Given the description of an element on the screen output the (x, y) to click on. 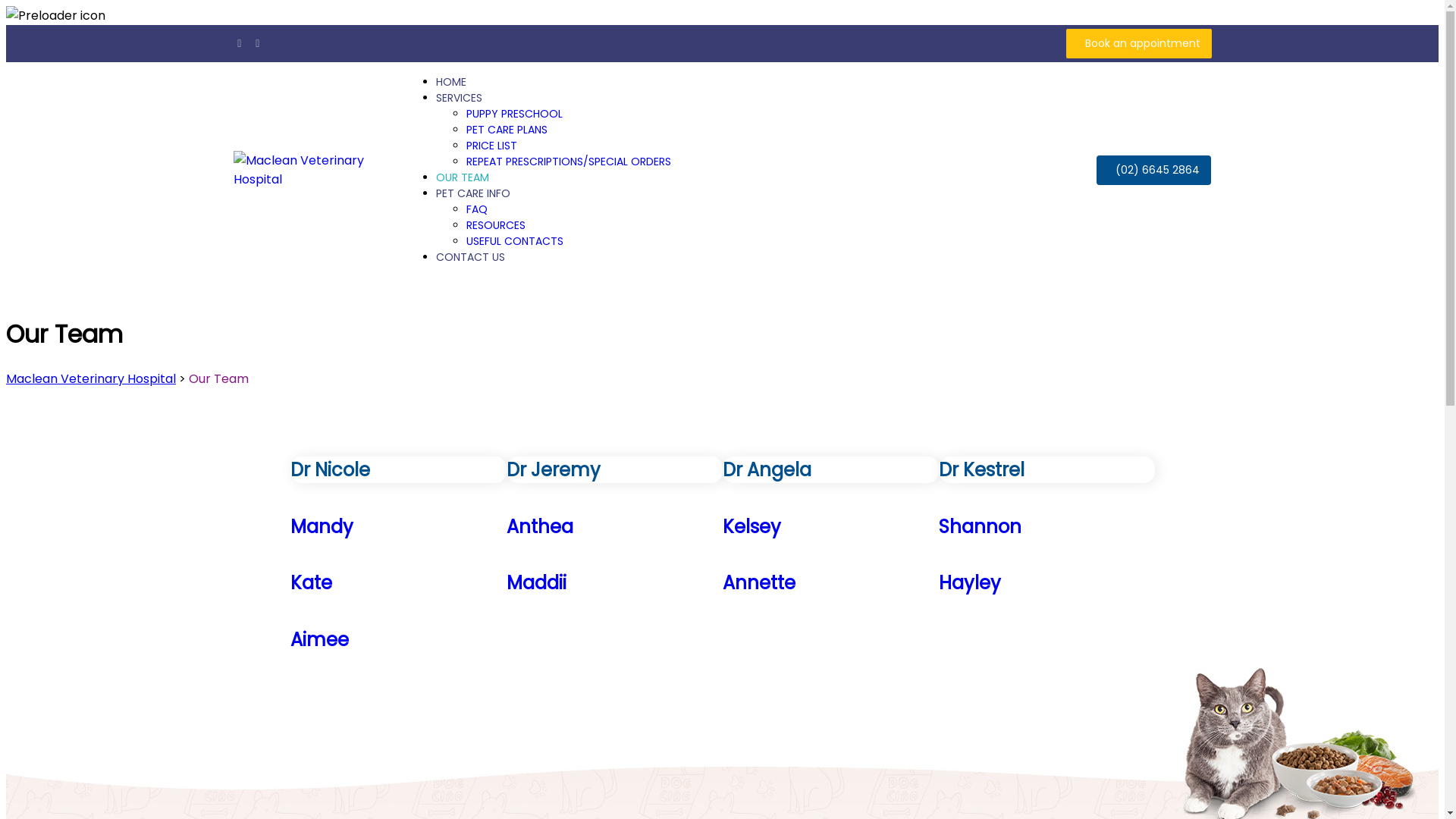
SERVICES Element type: text (459, 97)
REPEAT PRESCRIPTIONS/SPECIAL ORDERS Element type: text (568, 161)
PUPPY PRESCHOOL Element type: text (514, 113)
HOME Element type: text (451, 81)
OUR TEAM Element type: text (462, 177)
Kelsey Element type: text (829, 526)
Annette Element type: text (829, 582)
Shannon Element type: text (1046, 526)
Hayley Element type: text (1046, 582)
Dr Angela Element type: text (829, 469)
Book an appointment Element type: text (1138, 43)
Dr Kestrel Element type: text (1046, 469)
Kate Element type: text (397, 582)
Maddii Element type: text (614, 582)
Mandy Element type: text (397, 526)
Maclean Veterinary Hospital Element type: text (90, 378)
PET CARE PLANS Element type: text (506, 129)
Aimee Element type: text (397, 639)
Anthea Element type: text (614, 526)
RESOURCES Element type: text (495, 224)
Dr Jeremy Element type: text (614, 469)
USEFUL CONTACTS Element type: text (514, 240)
PET CARE INFO Element type: text (473, 193)
CONTACT US Element type: text (470, 256)
Dr Nicole Element type: text (397, 469)
PRICE LIST Element type: text (491, 145)
FAQ Element type: text (476, 208)
(02) 6645 2864 Element type: text (1153, 169)
